Given the description of an element on the screen output the (x, y) to click on. 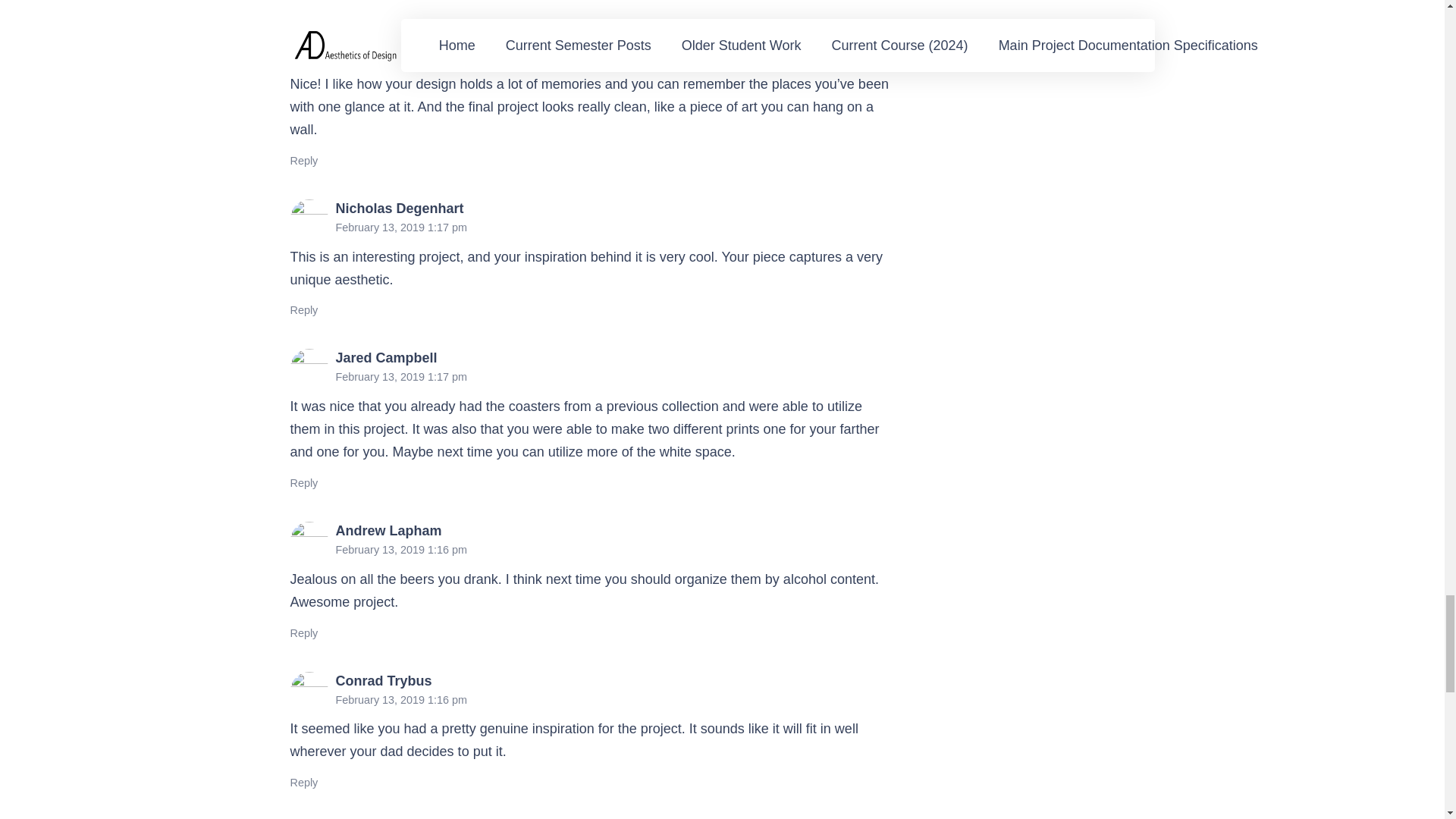
February 13, 2019 1:17 pm (400, 377)
February 13, 2019 1:17 pm (400, 227)
February 13, 2019 1:16 pm (400, 699)
February 13, 2019 1:16 pm (400, 549)
February 13, 2019 1:17 pm (400, 54)
